Given the description of an element on the screen output the (x, y) to click on. 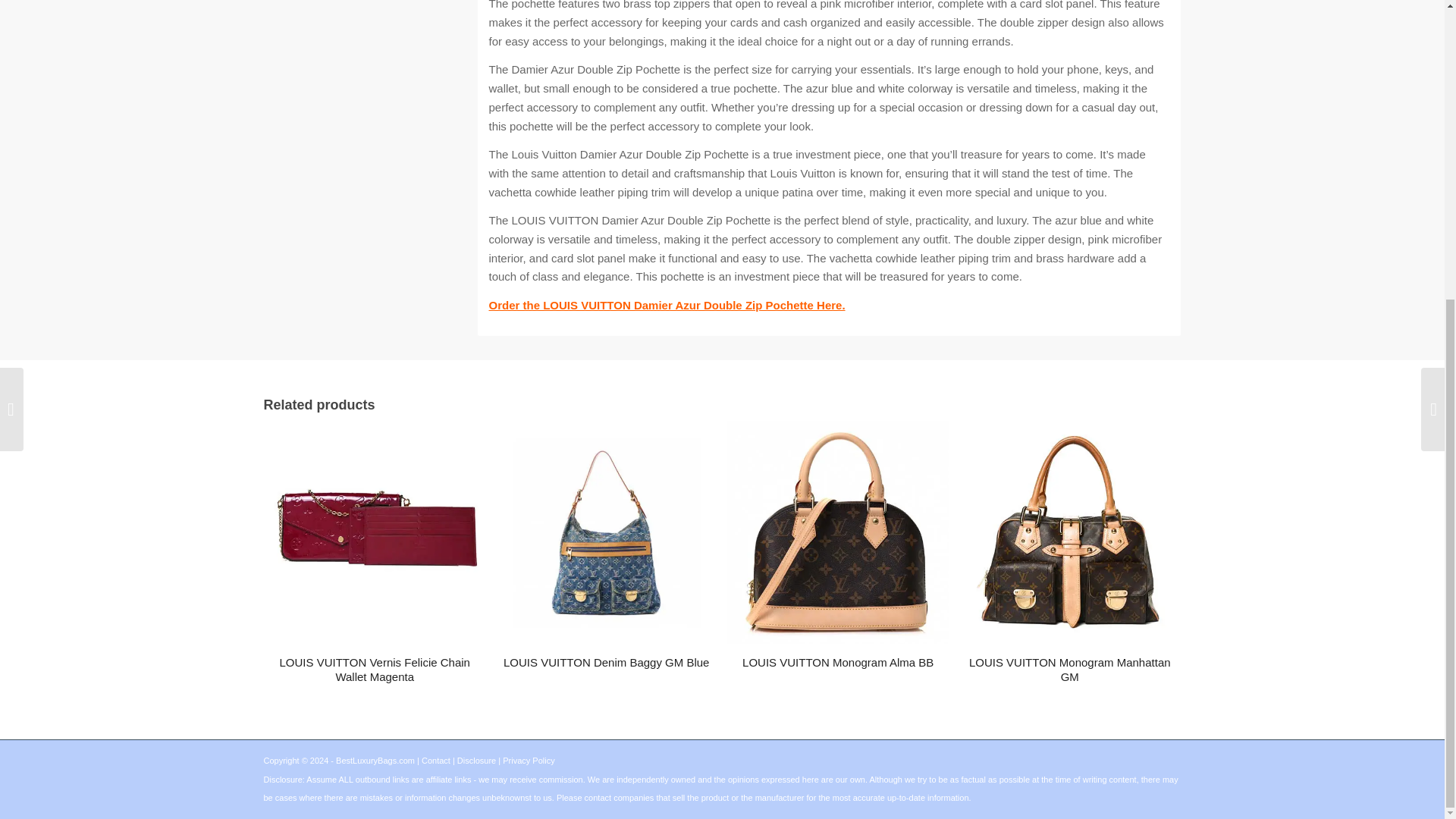
Disclosure (476, 759)
Privacy Policy (528, 759)
Contact (435, 759)
